Given the description of an element on the screen output the (x, y) to click on. 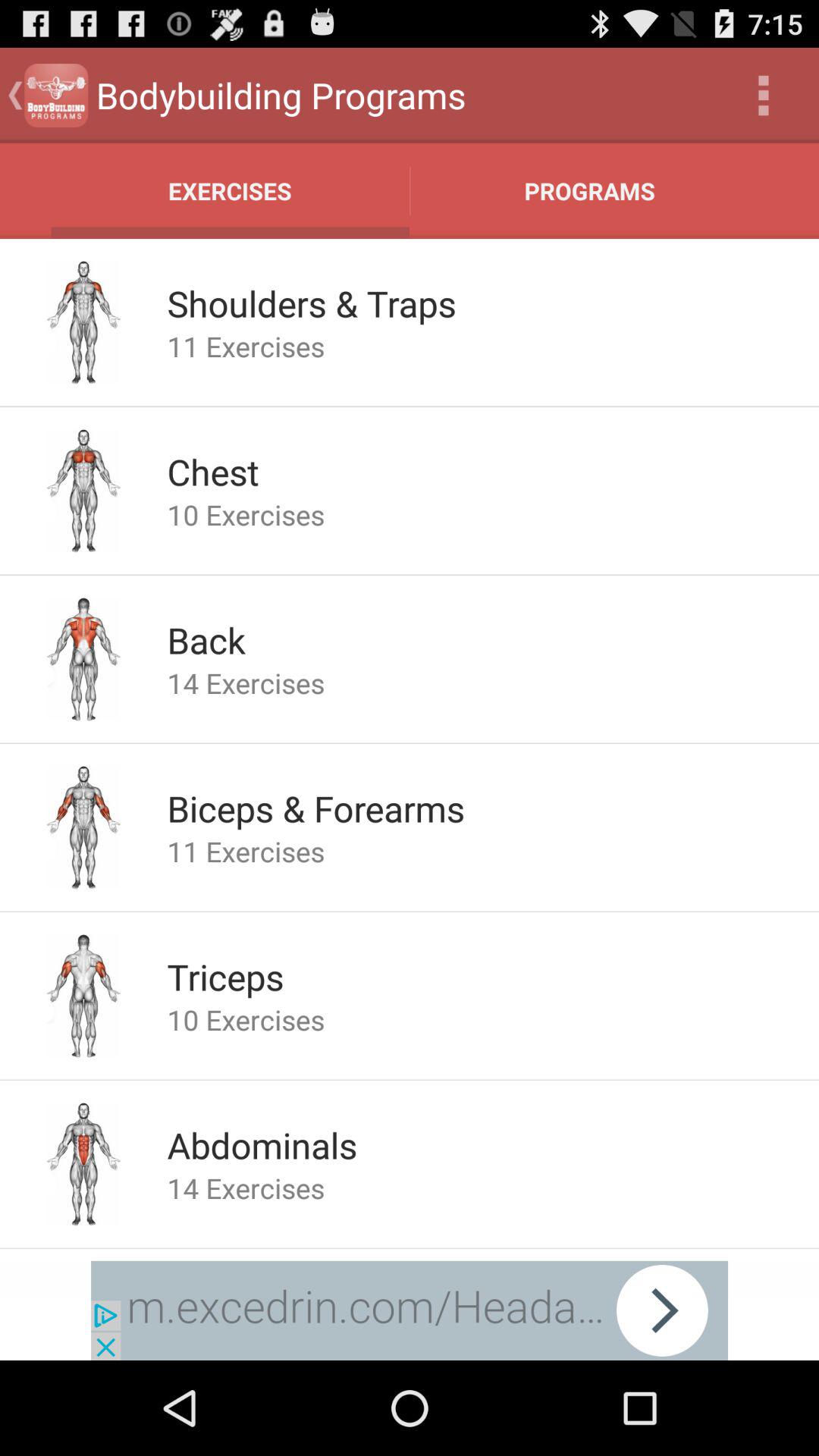
go to advertisement (409, 1310)
